Given the description of an element on the screen output the (x, y) to click on. 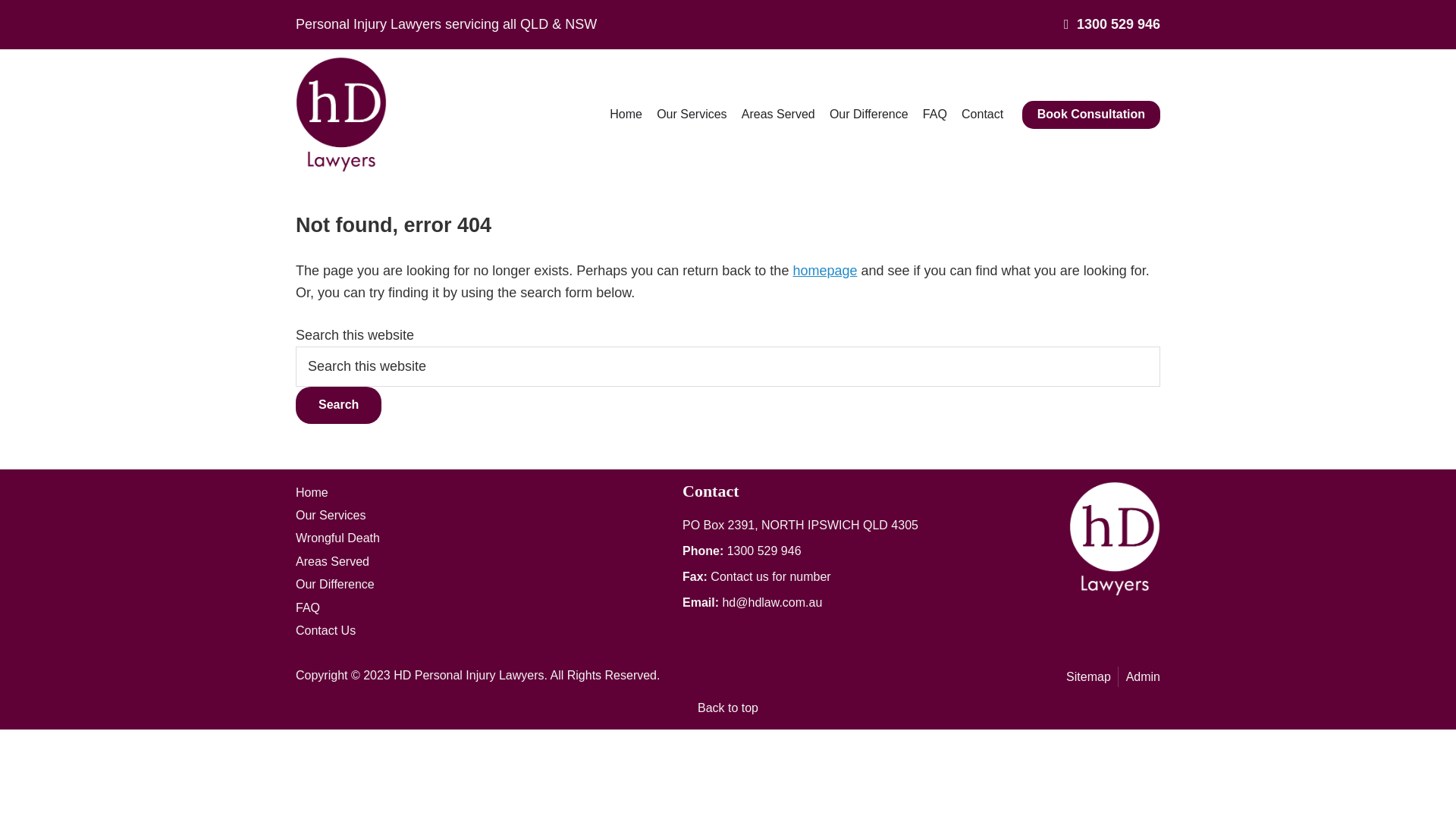
Admin Element type: text (1141, 676)
Sitemap Element type: text (1090, 676)
Our Services Element type: text (691, 114)
Contact Us Element type: text (482, 630)
Email: hd@hdlaw.com.au Element type: text (752, 602)
Personal Injury Compensation Lawyers Element type: hover (340, 67)
FAQ Element type: text (482, 607)
Home Element type: text (625, 114)
Our Difference Element type: text (482, 584)
homepage Element type: text (824, 270)
Our Difference Element type: text (868, 114)
Areas Served Element type: text (778, 114)
Search Element type: text (338, 404)
Book Consultation Element type: text (1091, 114)
PO Box 2391, NORTH IPSWICH QLD 4305 Element type: text (800, 524)
Phone: 1300 529 946 Element type: text (741, 550)
Areas Served Element type: text (482, 561)
Contact Element type: text (981, 114)
Our Services Element type: text (482, 515)
Wrongful Death Element type: text (482, 538)
1300 529 946 Element type: text (1111, 23)
Skip to primary navigation Element type: text (0, 0)
Back to top Element type: text (727, 707)
Home Element type: text (482, 491)
FAQ Element type: text (934, 114)
